Given the description of an element on the screen output the (x, y) to click on. 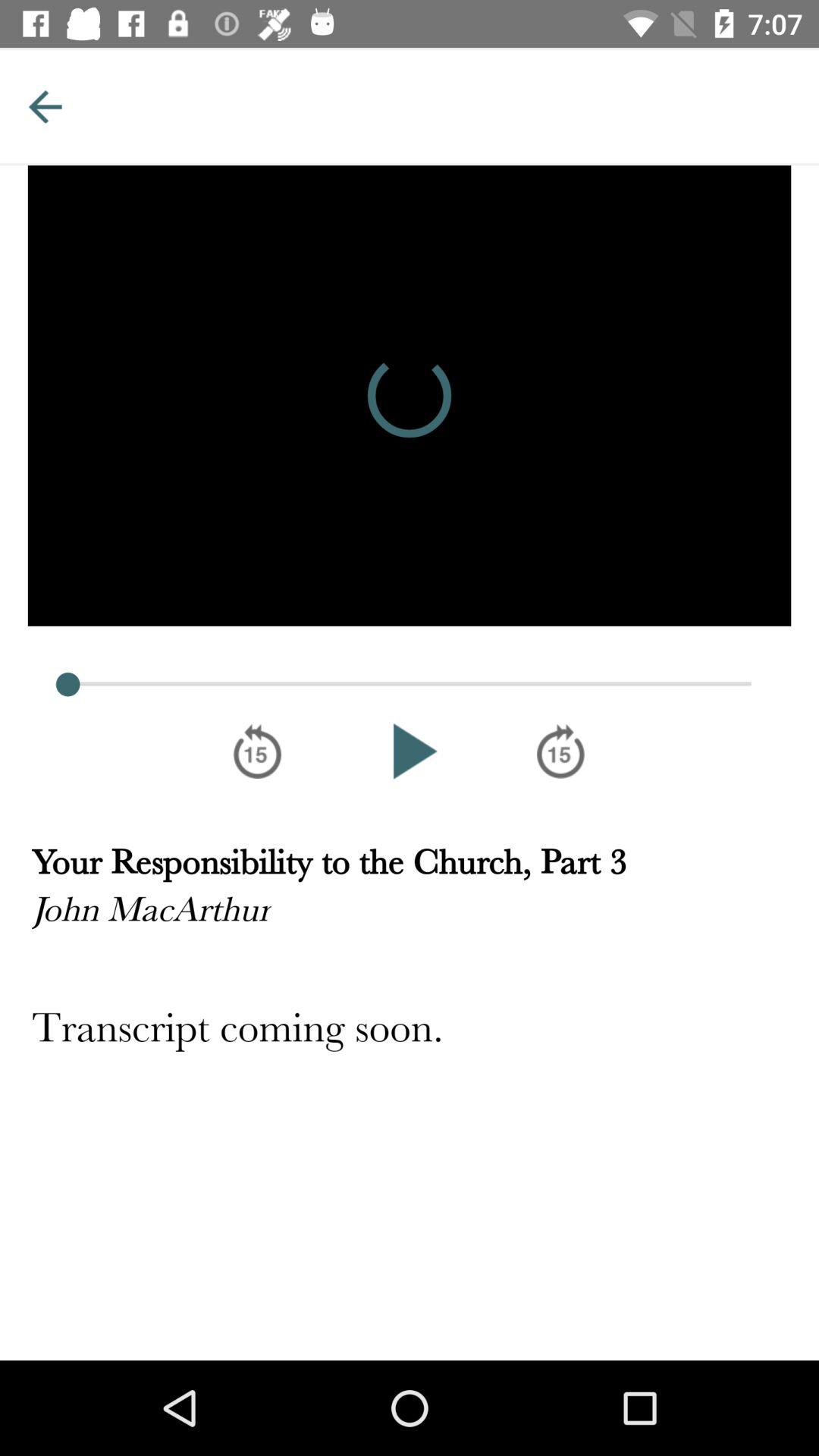
go back (45, 106)
